Given the description of an element on the screen output the (x, y) to click on. 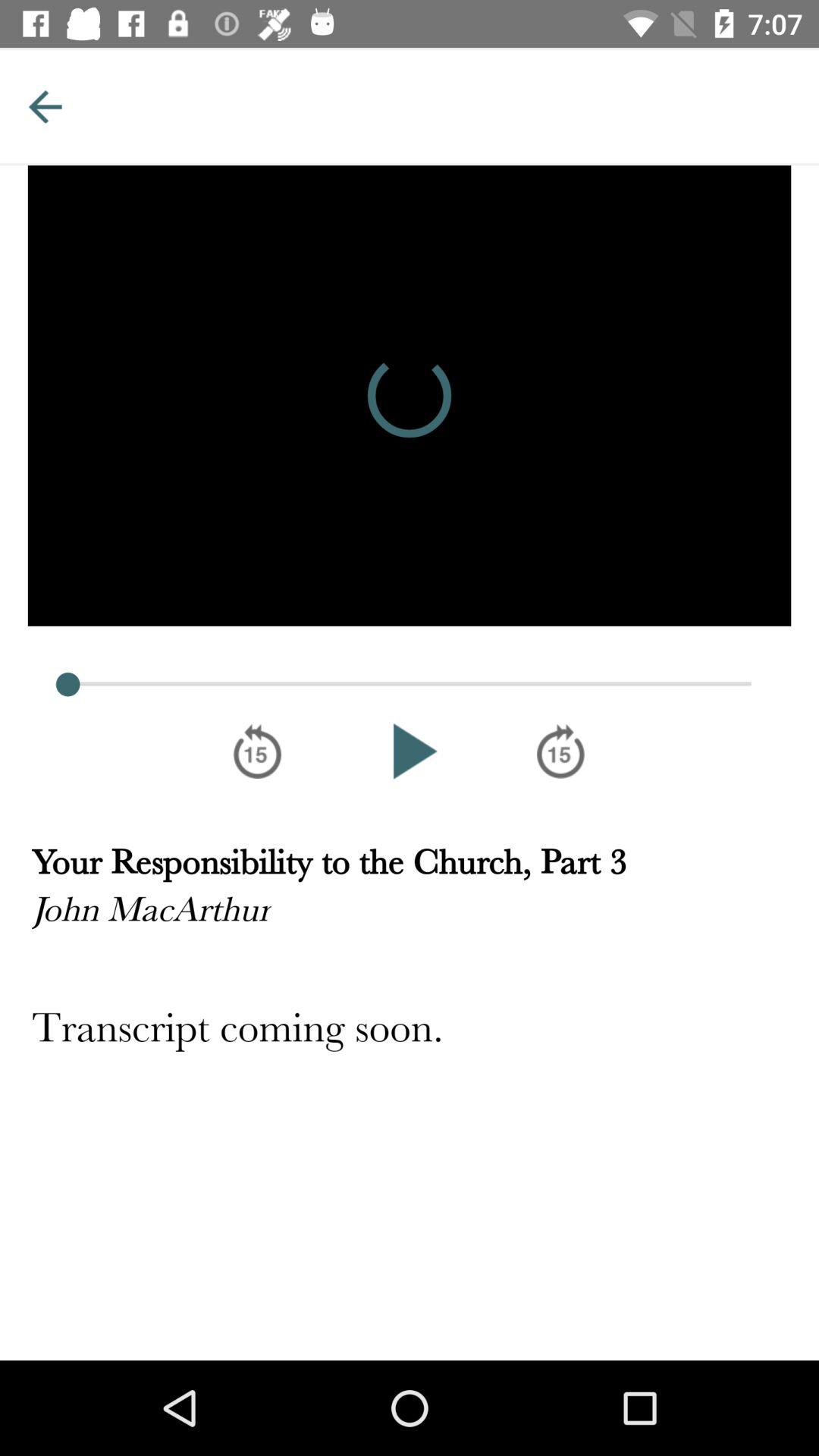
go back (45, 106)
